Given the description of an element on the screen output the (x, y) to click on. 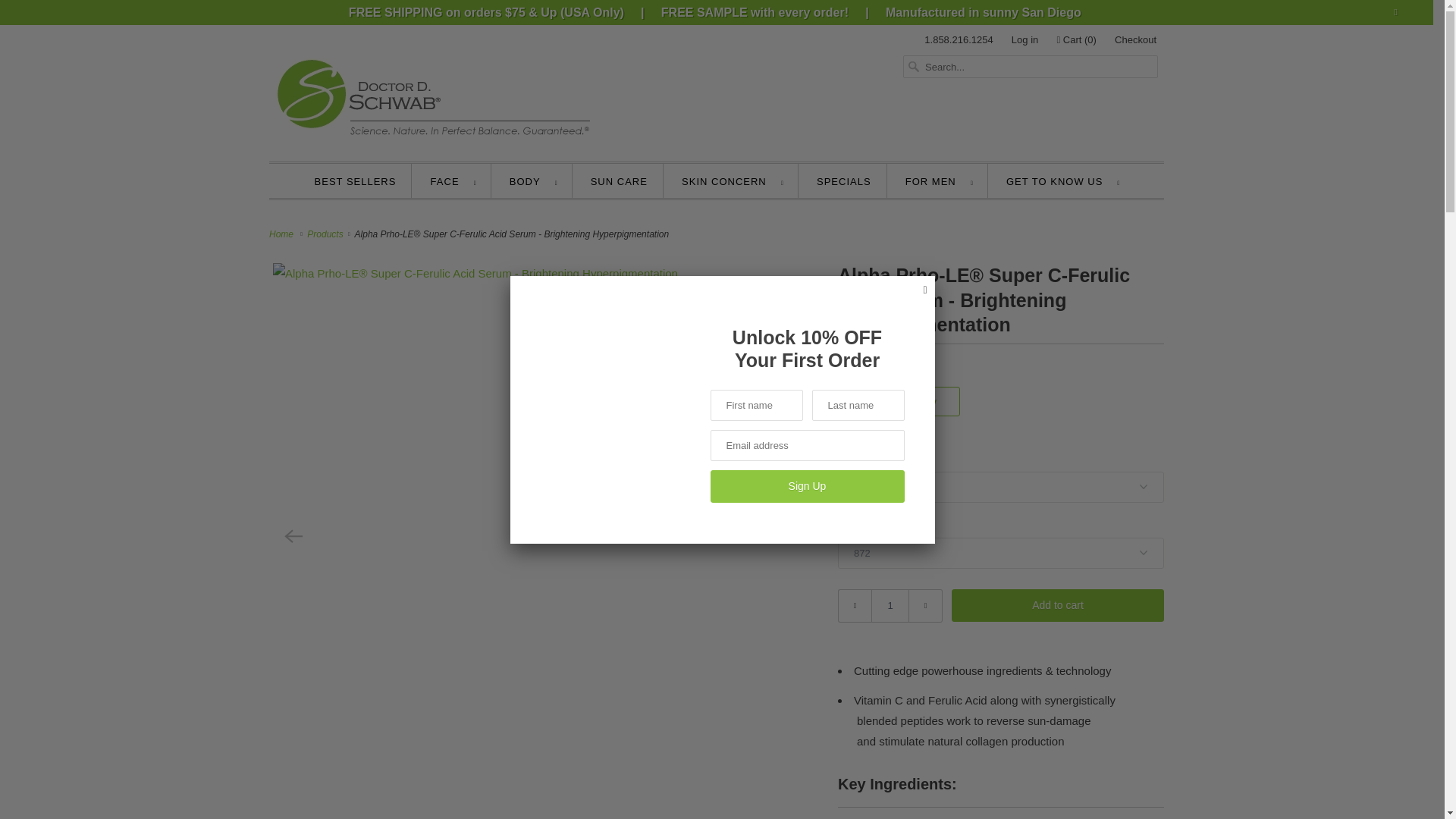
Doctor D. Schwab Skin Care (283, 234)
Checkout (1135, 39)
1 (889, 604)
Sign Up (807, 486)
Doctor D. Schwab Skin Care (431, 87)
Products (326, 234)
1.858.216.1254 (958, 39)
Log in (1024, 39)
